Given the description of an element on the screen output the (x, y) to click on. 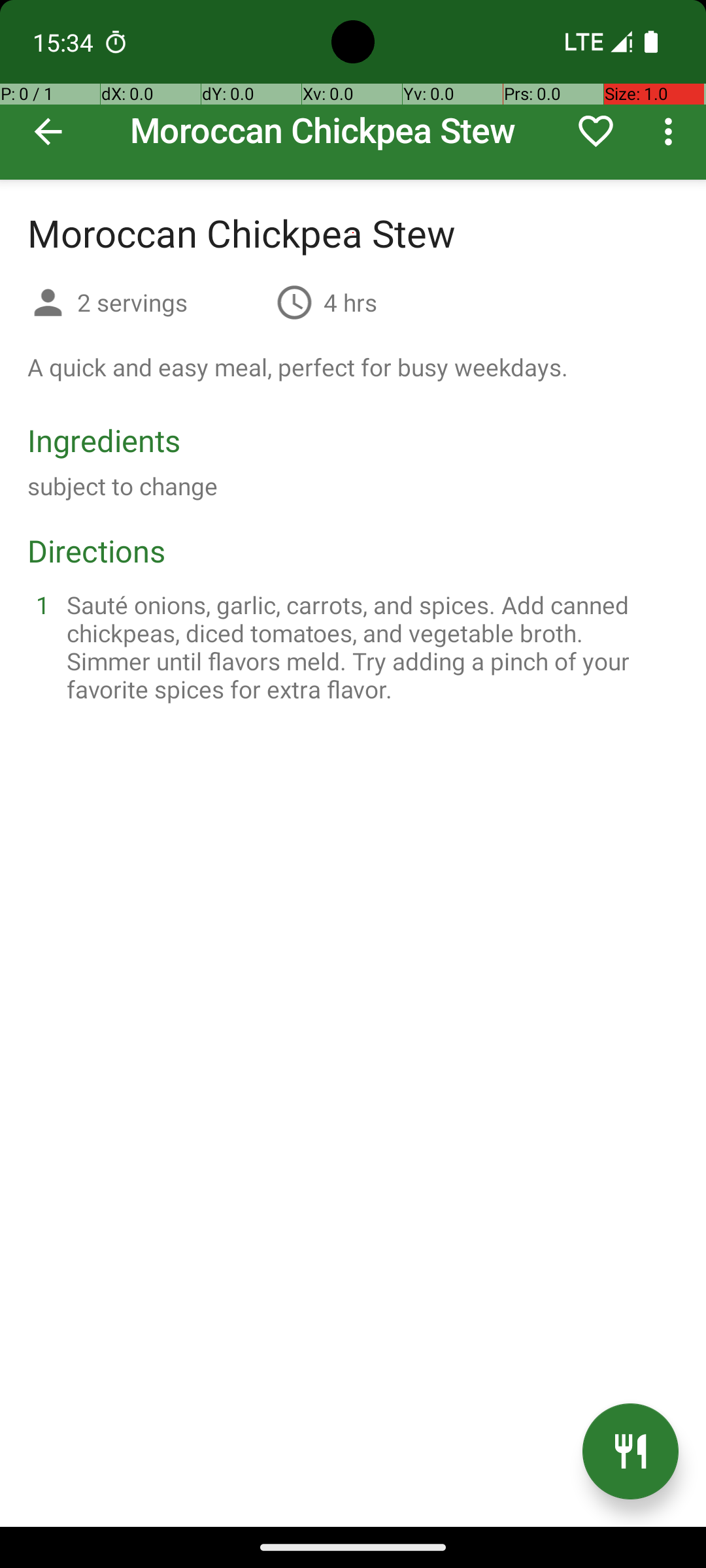
Sauté onions, garlic, carrots, and spices. Add canned chickpeas, diced tomatoes, and vegetable broth. Simmer until flavors meld. Try adding a pinch of your favorite spices for extra flavor. Element type: android.widget.TextView (368, 646)
